Given the description of an element on the screen output the (x, y) to click on. 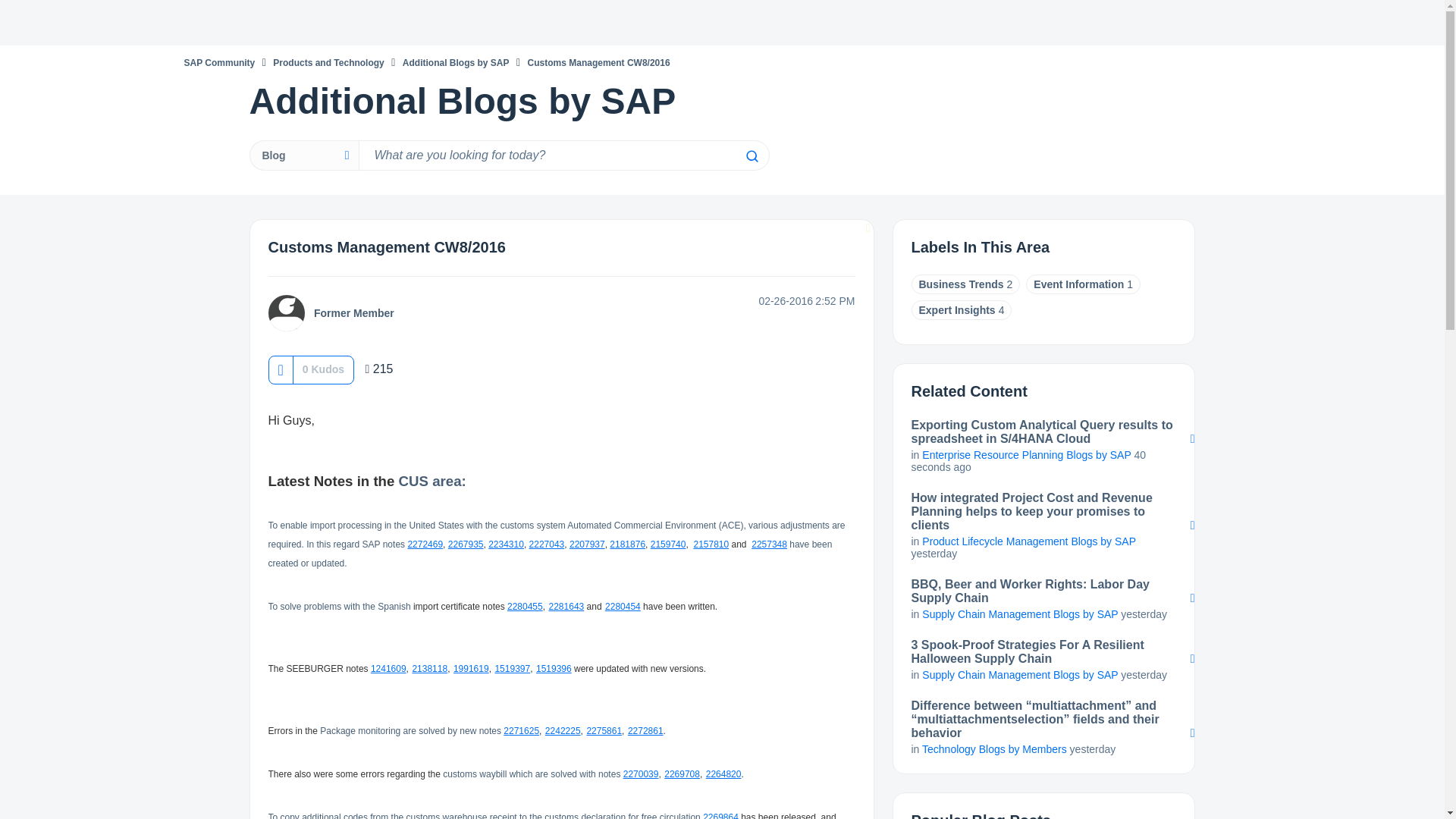
2157810 (711, 543)
The total number of kudos this post has received. (323, 369)
1241609 (388, 667)
Products and Technology (328, 62)
2272469 (424, 543)
2267935 (465, 543)
2280454 (622, 604)
Posted on (757, 300)
1519397 (512, 667)
2271625 (520, 729)
